Given the description of an element on the screen output the (x, y) to click on. 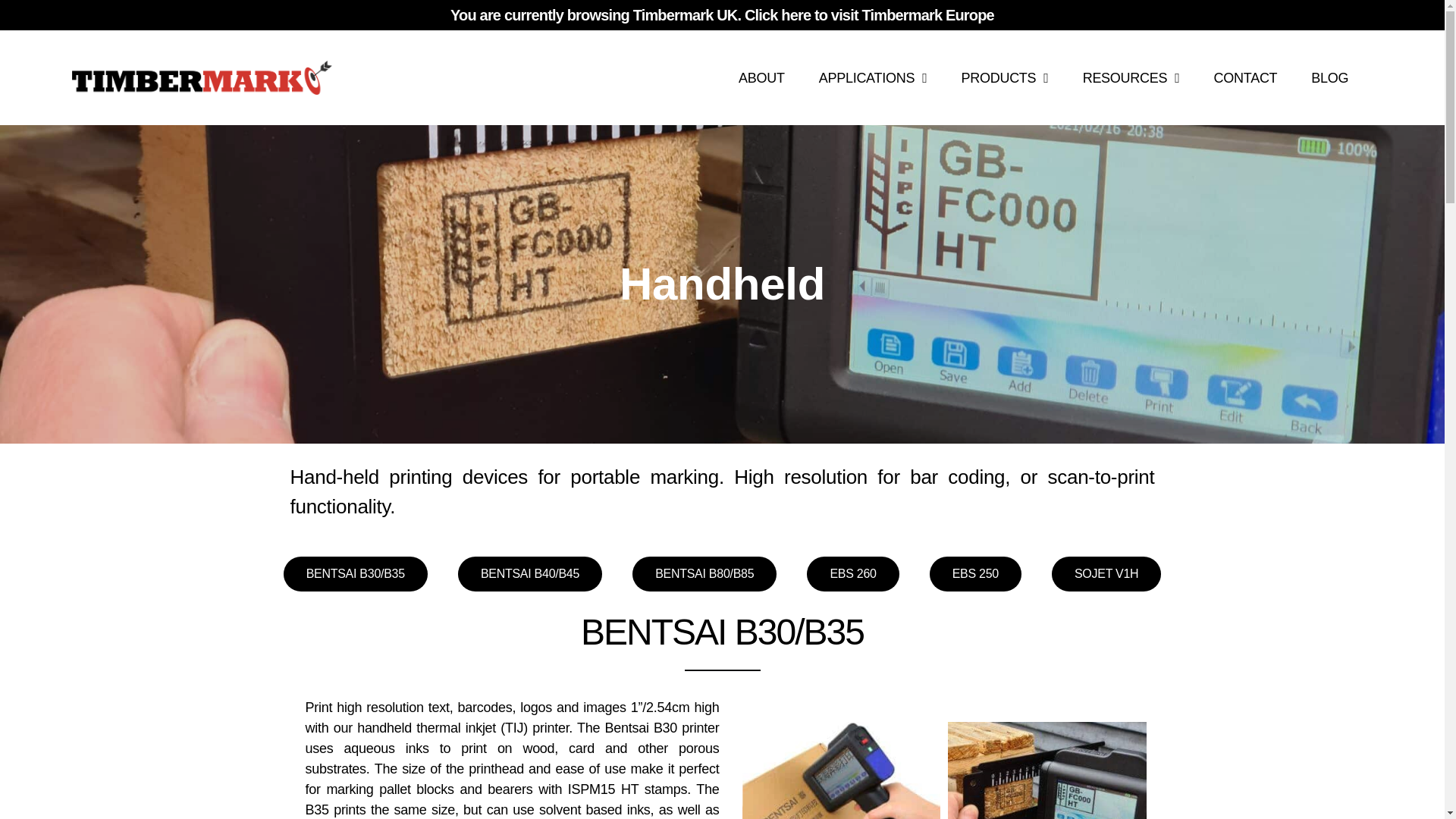
ABOUT (761, 77)
EBS 260 (852, 573)
BLOG (1328, 77)
APPLICATIONS (872, 77)
PRODUCTS (1003, 77)
CONTACT (1245, 77)
EBS 250 (976, 573)
RESOURCES (1131, 77)
